Given the description of an element on the screen output the (x, y) to click on. 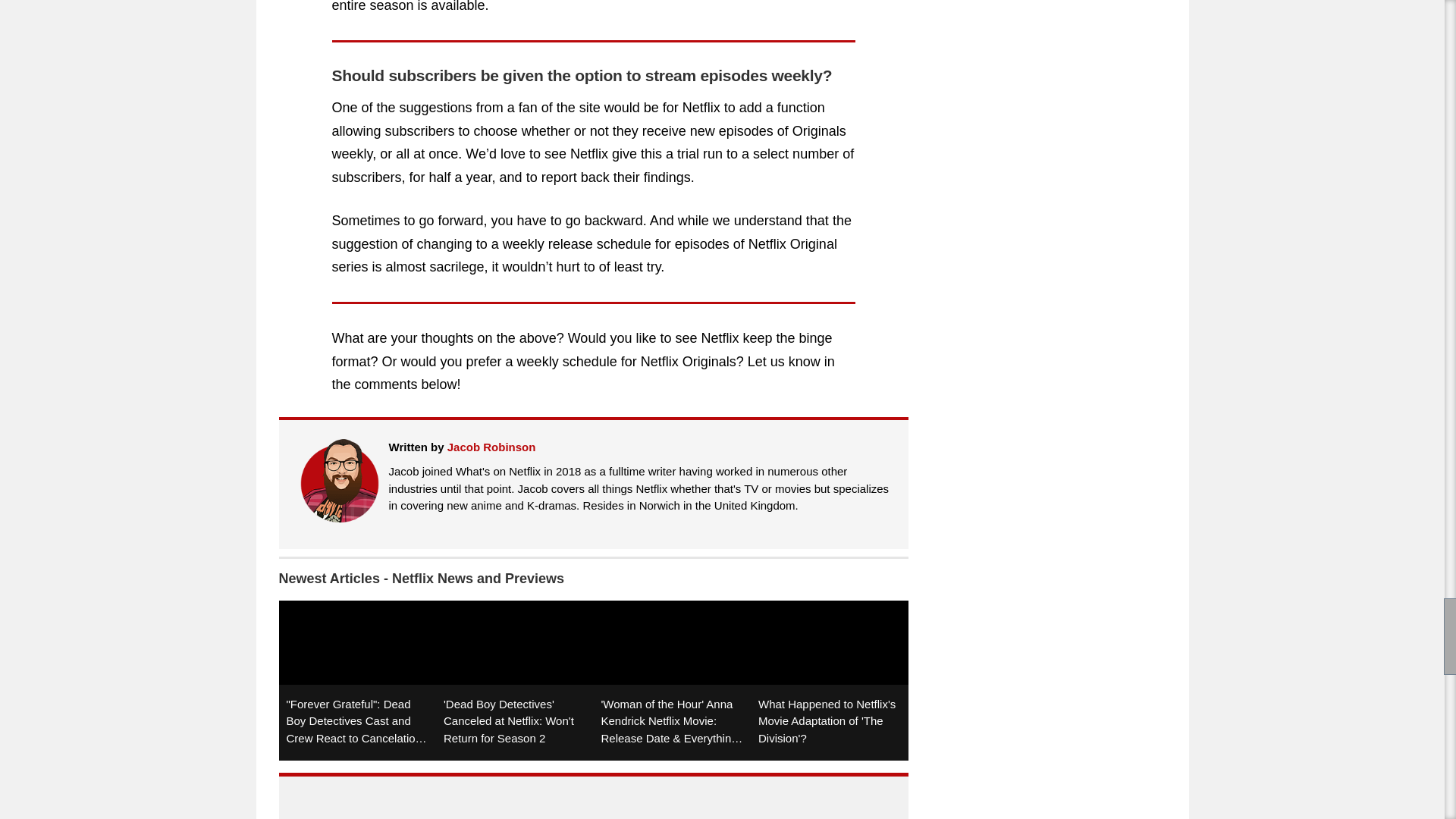
Jacob Robinson (490, 446)
Posts by Jacob Robinson (490, 446)
